Given the description of an element on the screen output the (x, y) to click on. 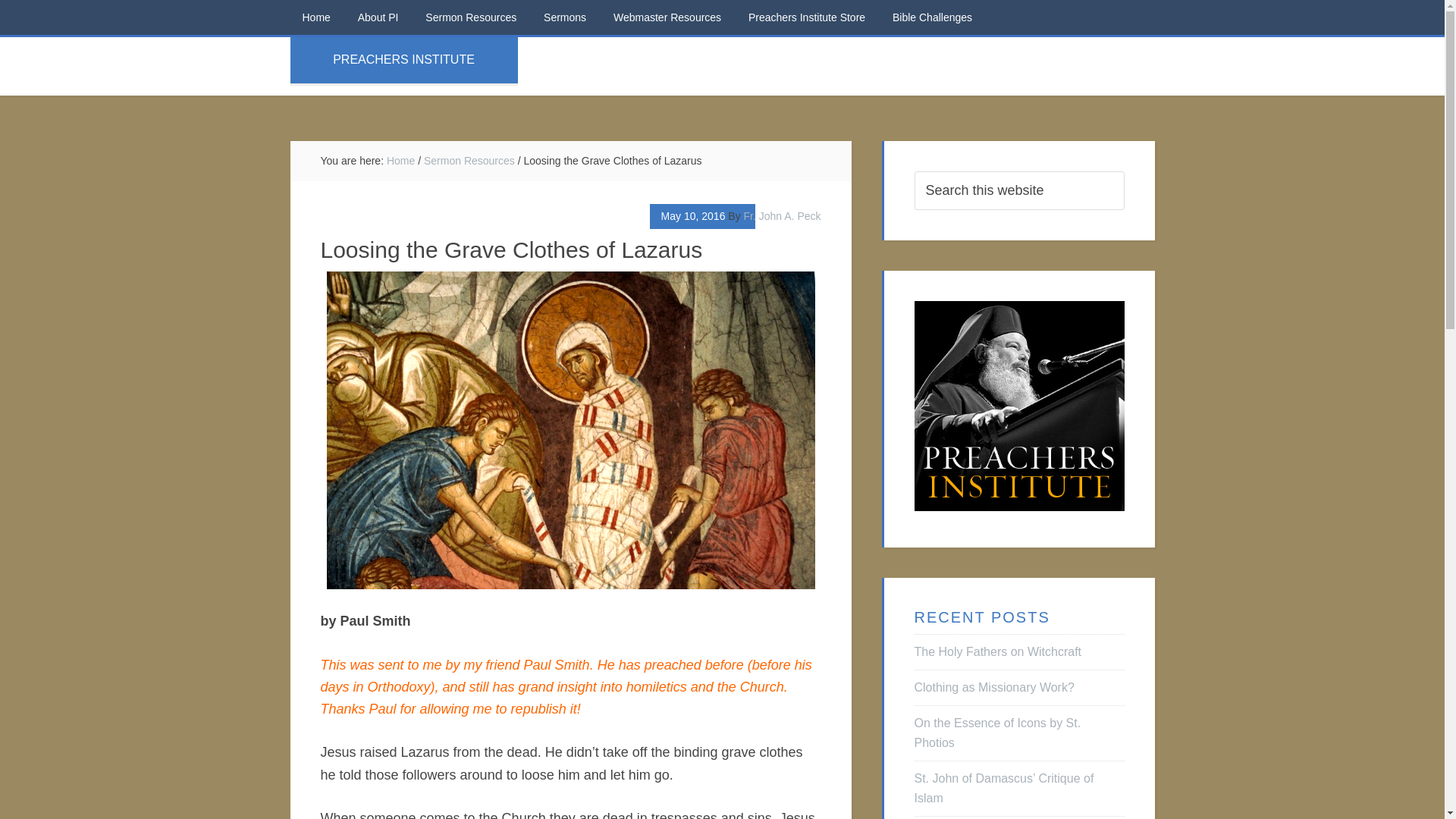
Bible Challenges (932, 17)
Home (400, 160)
Sermon Resources (470, 17)
Home (315, 17)
Preachers Institute Store (806, 17)
Fr. John A. Peck (782, 215)
Webmaster Resources (667, 17)
Sermons (564, 17)
Preachers Institute (1019, 406)
About PI (378, 17)
Sermon Resources (469, 160)
